Given the description of an element on the screen output the (x, y) to click on. 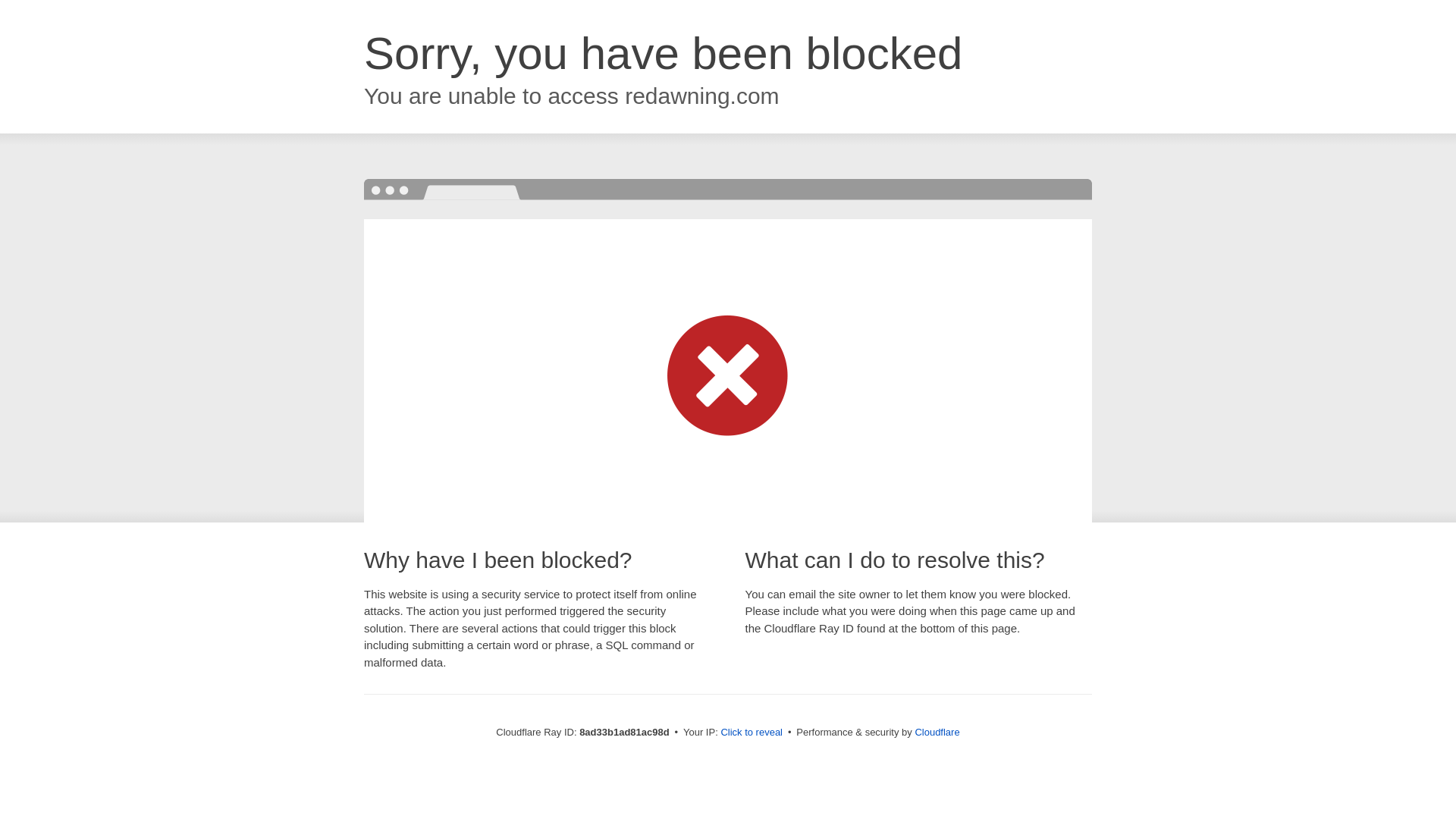
Cloudflare (936, 731)
Click to reveal (751, 732)
